Given the description of an element on the screen output the (x, y) to click on. 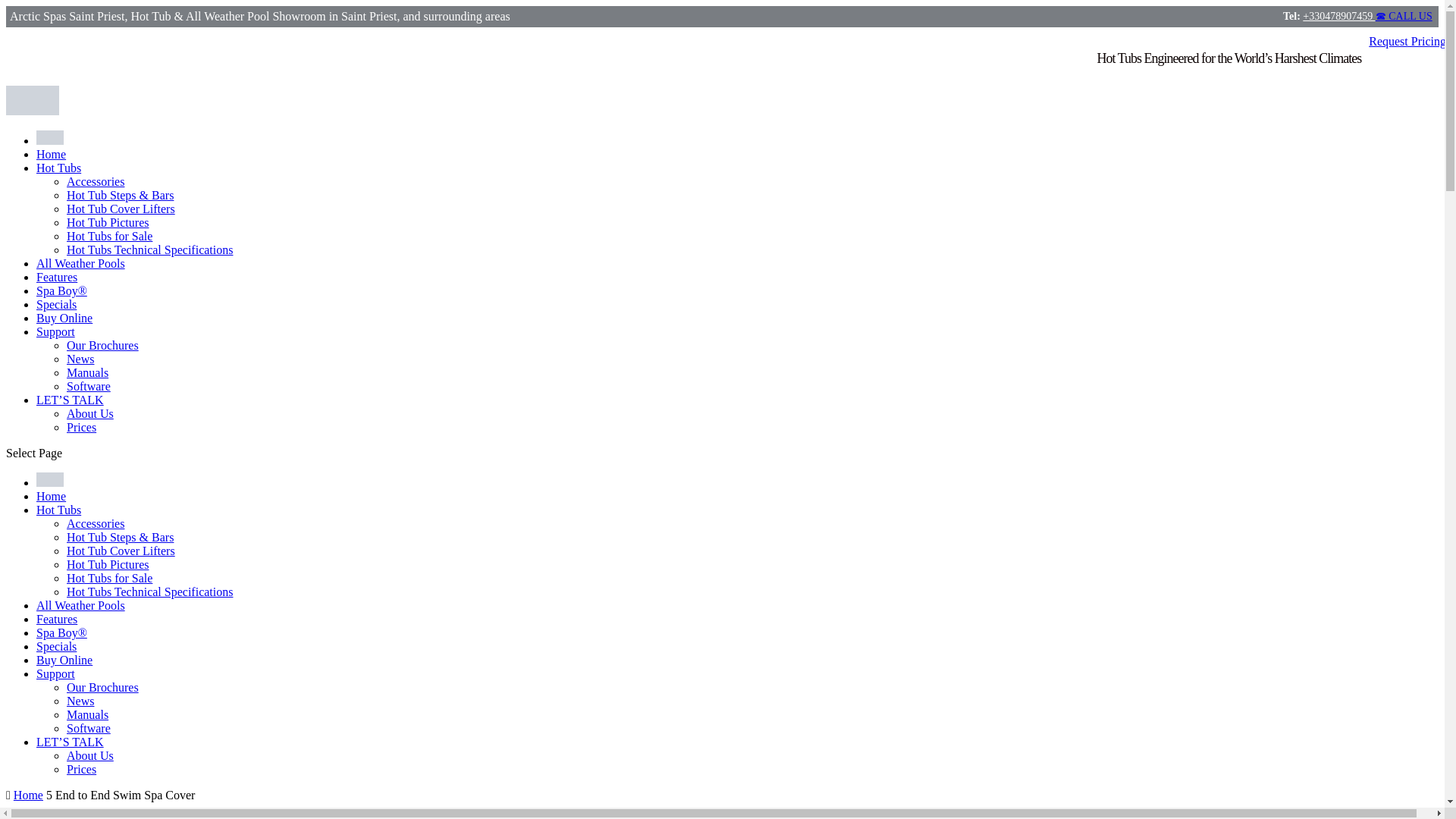
Hot Tubs for Sale (109, 577)
Specials (56, 645)
Hot Tub Cover Lifters (120, 550)
Accessories (94, 522)
Accessories (94, 181)
Specials (56, 304)
Manuals (86, 372)
Hot Tubs for Sale (109, 236)
Return to the home page (50, 154)
All Weather Pools (80, 263)
Request Pricing (1406, 41)
Choose Your Location (50, 137)
Hot Tubs (58, 167)
Hot Tubs Technical Specifications (149, 591)
